Given the description of an element on the screen output the (x, y) to click on. 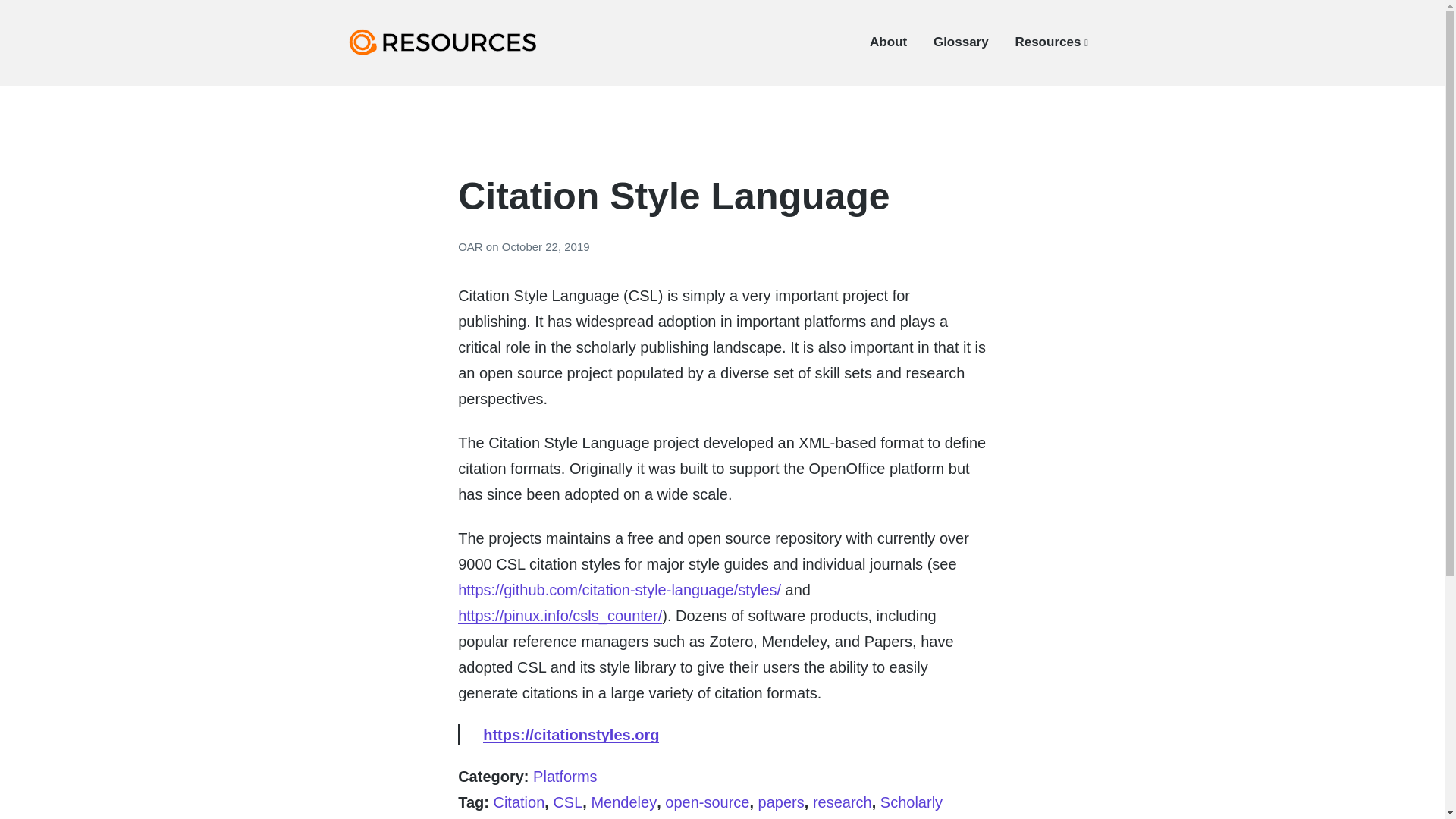
research (842, 801)
Resources (1050, 42)
papers (781, 801)
OAR (472, 246)
open-source (707, 801)
Scholarly Publishing (700, 806)
CSL (567, 801)
Platforms (564, 776)
Citation (518, 801)
Glossary (960, 42)
About (888, 42)
Open Access resources (457, 68)
Mendeley (623, 801)
